Given the description of an element on the screen output the (x, y) to click on. 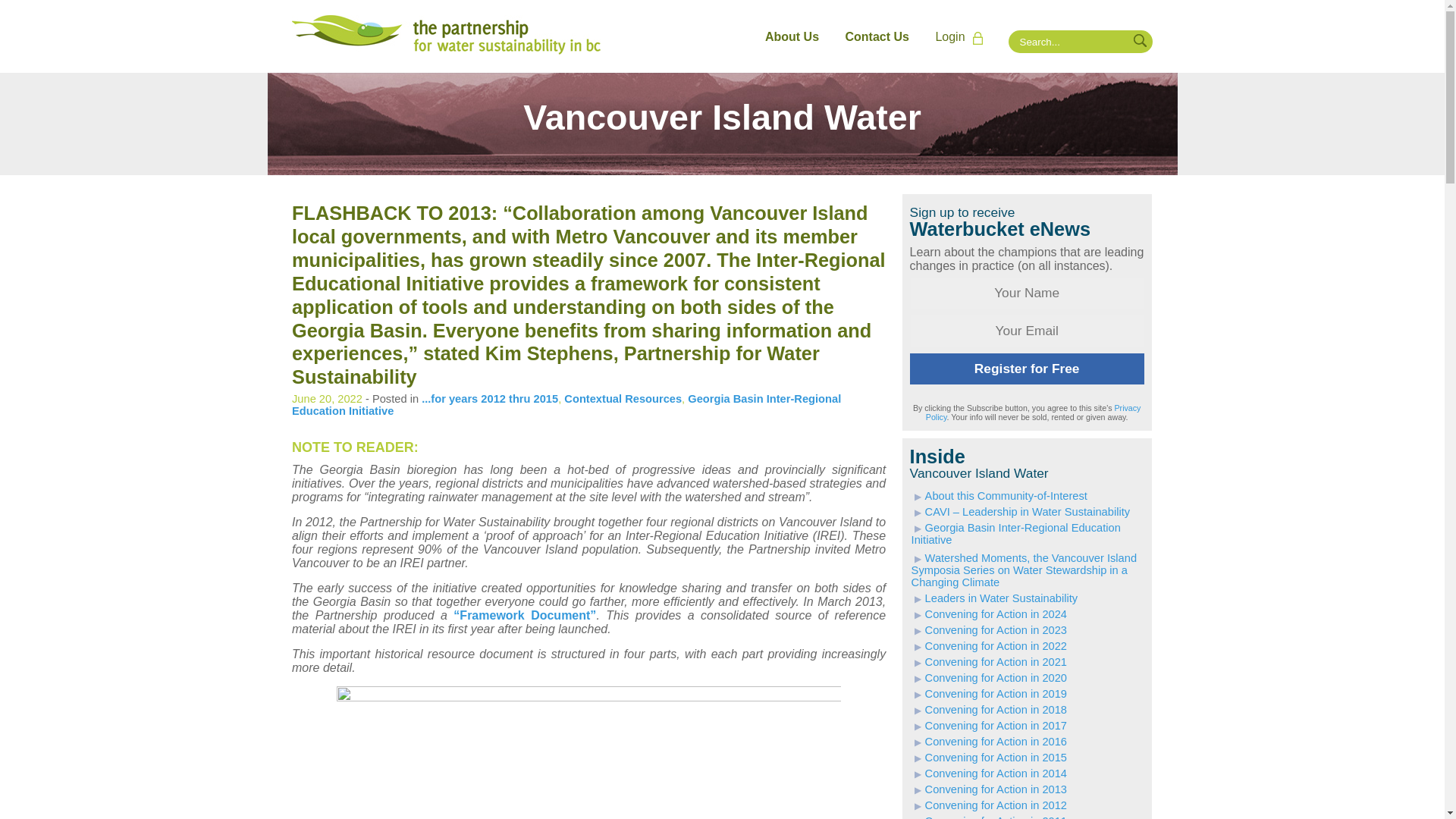
Convening for Action in 2013 (989, 788)
Login (963, 37)
Georgia Basin Inter-Regional Education Initiative (1016, 533)
Convening for Action in 2014 (989, 773)
Contextual Resources (622, 398)
Convening for Action in 2018 (989, 709)
Convening for Action in 2022 (989, 645)
About this Community-of-Interest (999, 495)
Vancouver Island Water (721, 123)
Register for Free (1027, 368)
Convening for Action in 2023 (989, 630)
Convening for Action in 2011 (989, 816)
Georgia Basin Inter-Regional Education Initiative (566, 404)
Convening for Action in 2024 (989, 613)
Register for Free (1027, 368)
